Given the description of an element on the screen output the (x, y) to click on. 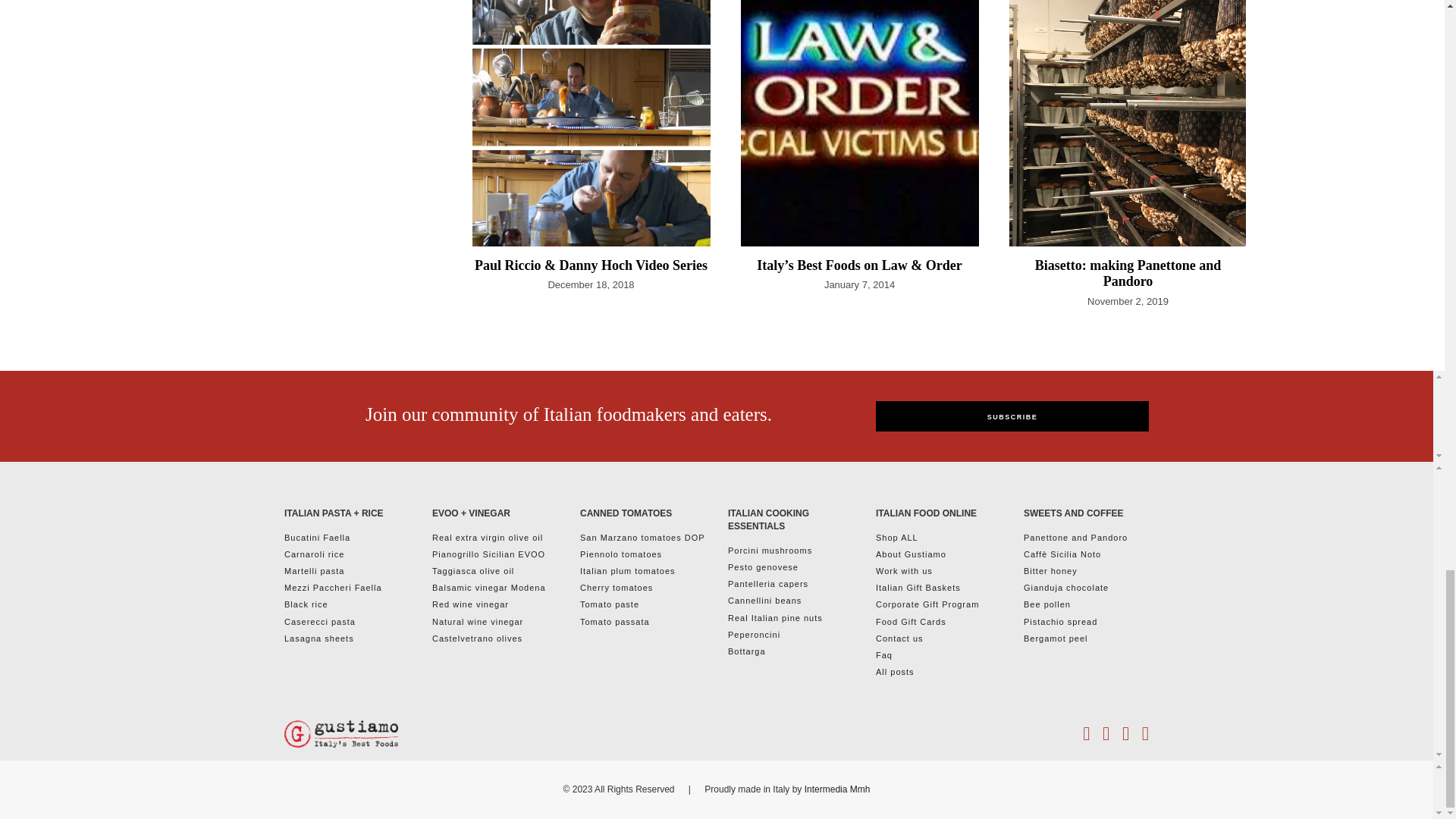
Italy's Best Food (340, 733)
